Given the description of an element on the screen output the (x, y) to click on. 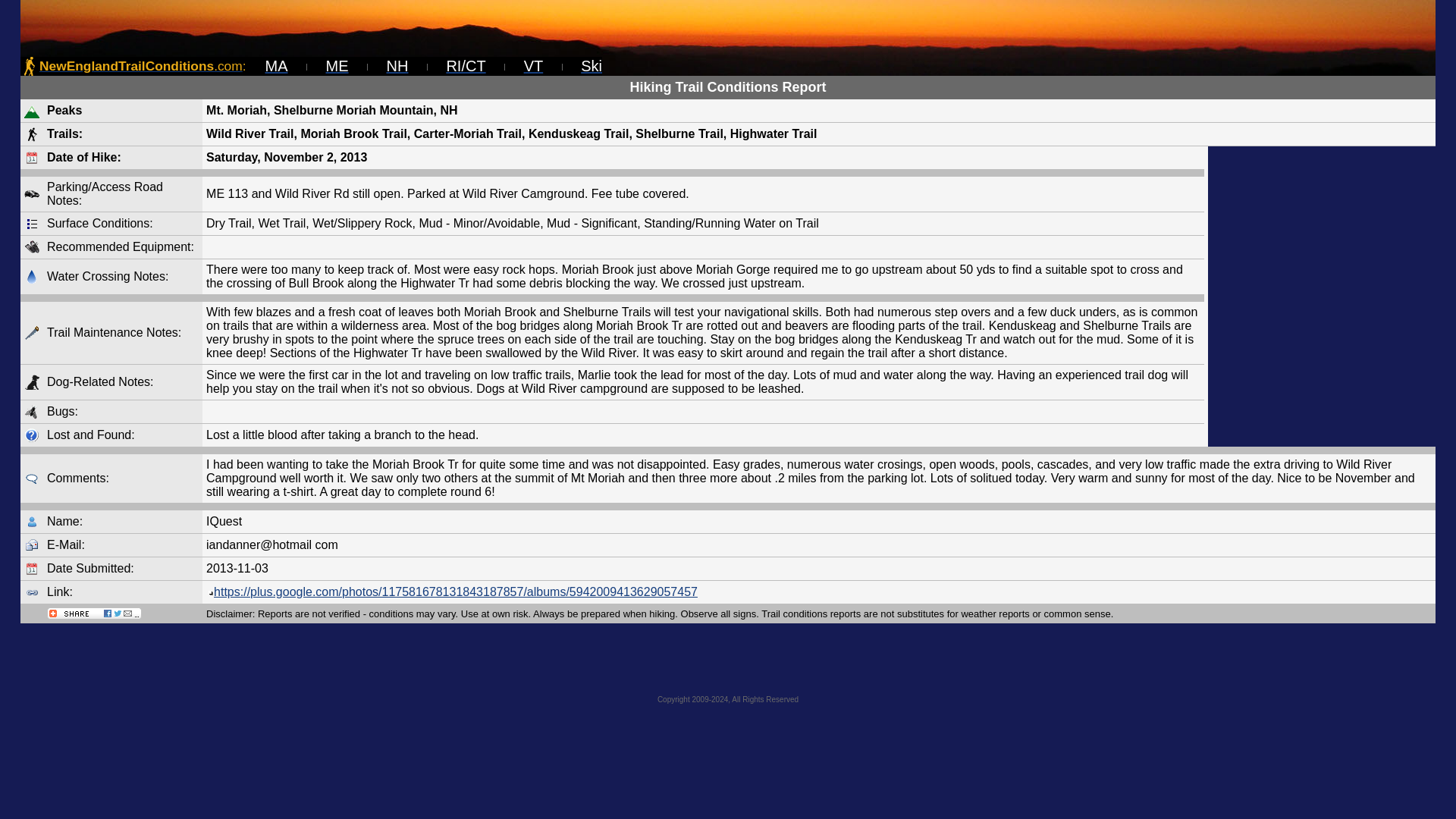
Advertisement (727, 661)
Ski (591, 65)
Advertisement (1321, 296)
MA (276, 65)
VT (533, 65)
NH (398, 65)
NewEnglandTrailConditions.com (141, 65)
ME (337, 65)
